Given the description of an element on the screen output the (x, y) to click on. 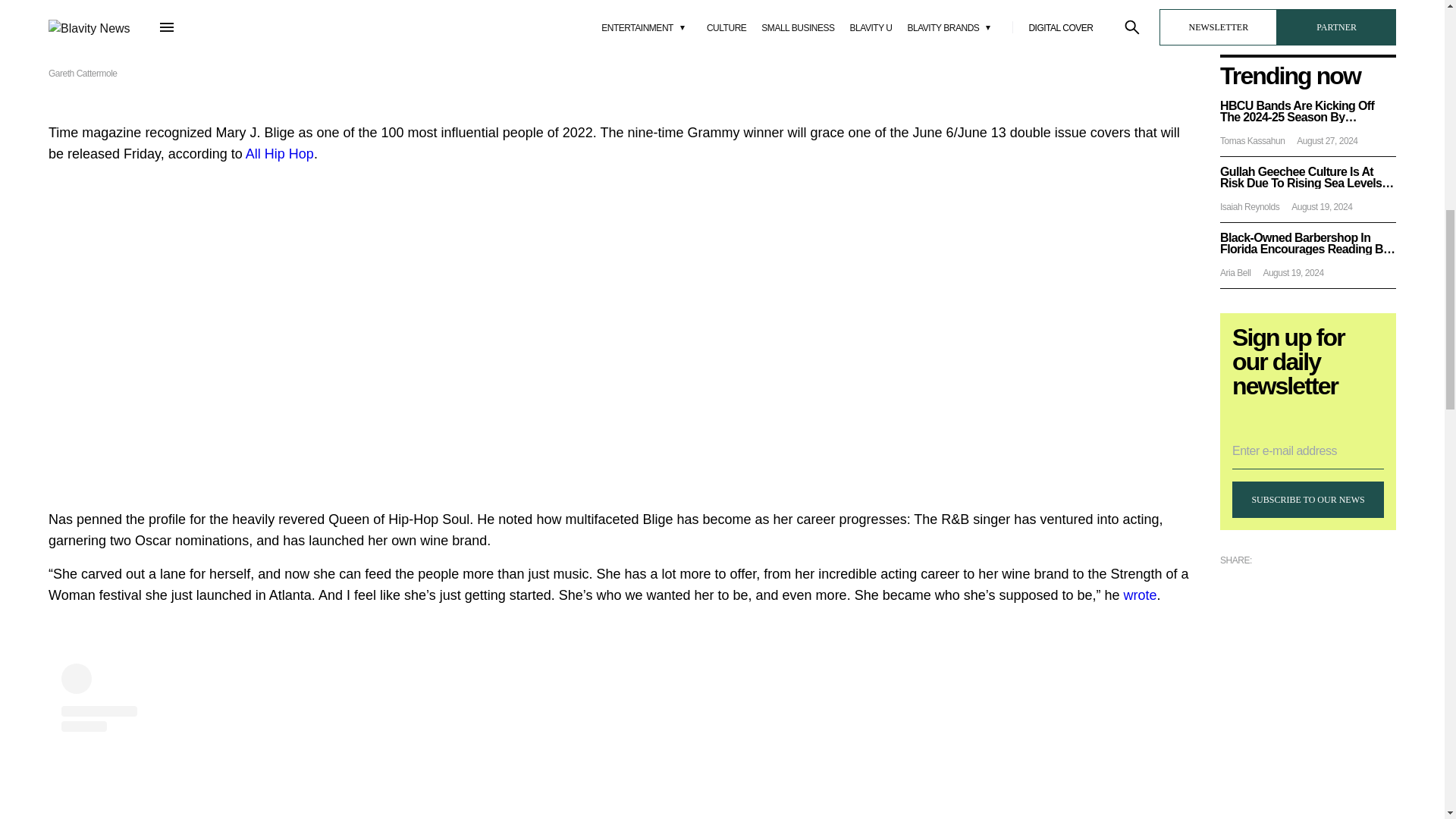
All Hip Hop (280, 153)
wrote (1140, 595)
